Given the description of an element on the screen output the (x, y) to click on. 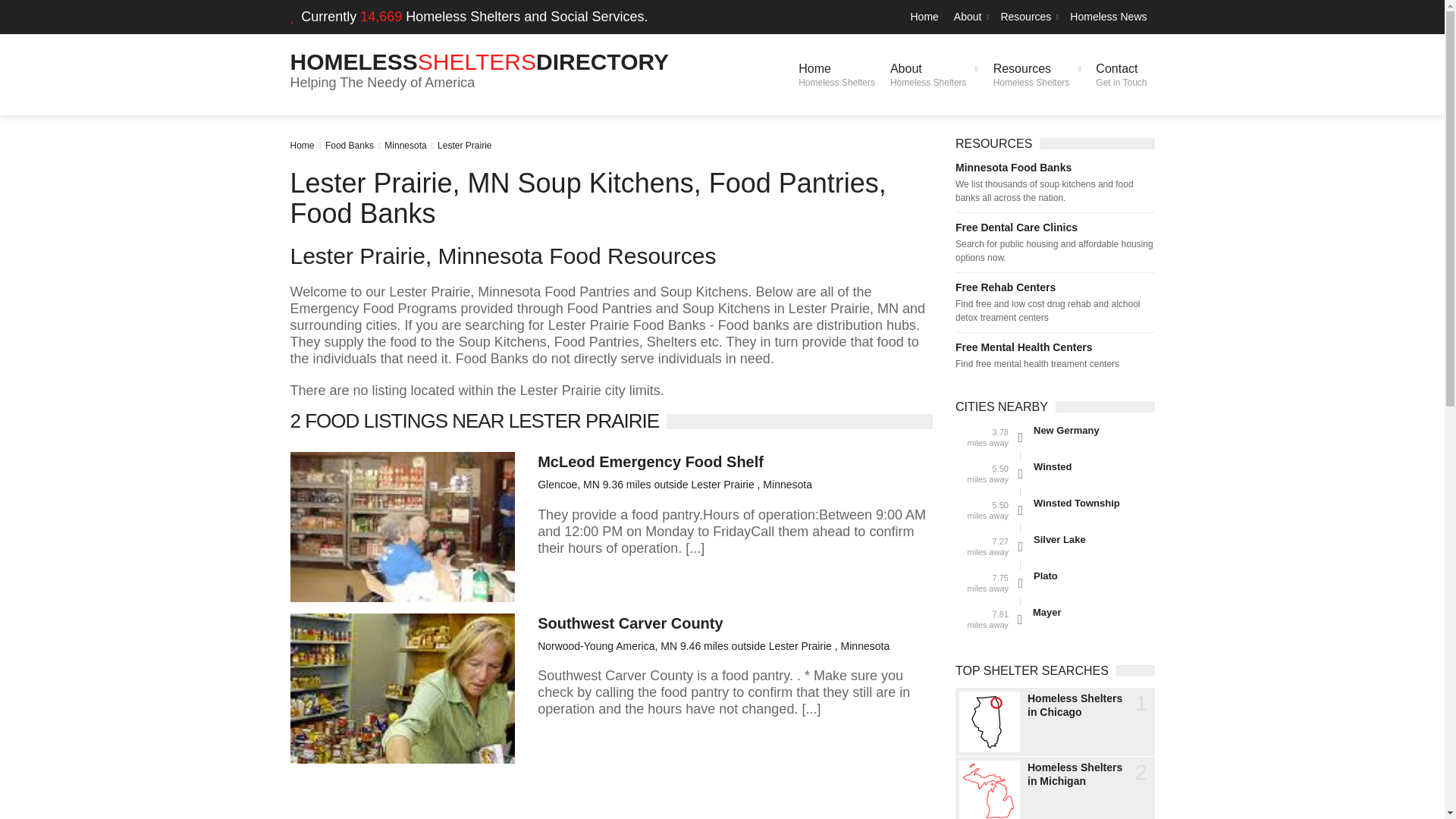
Home (301, 145)
Resources (1027, 17)
Minnesota Food Banks (1054, 167)
About (969, 17)
Lester Prairie (836, 74)
Free Rehab Centers (1037, 74)
Winsted Township (465, 145)
Free Mental Health Centers (1054, 287)
Southwest Carver County (933, 74)
New Germany (1093, 503)
HOMELESSSHELTERSDIRECTORY (1054, 346)
